Given the description of an element on the screen output the (x, y) to click on. 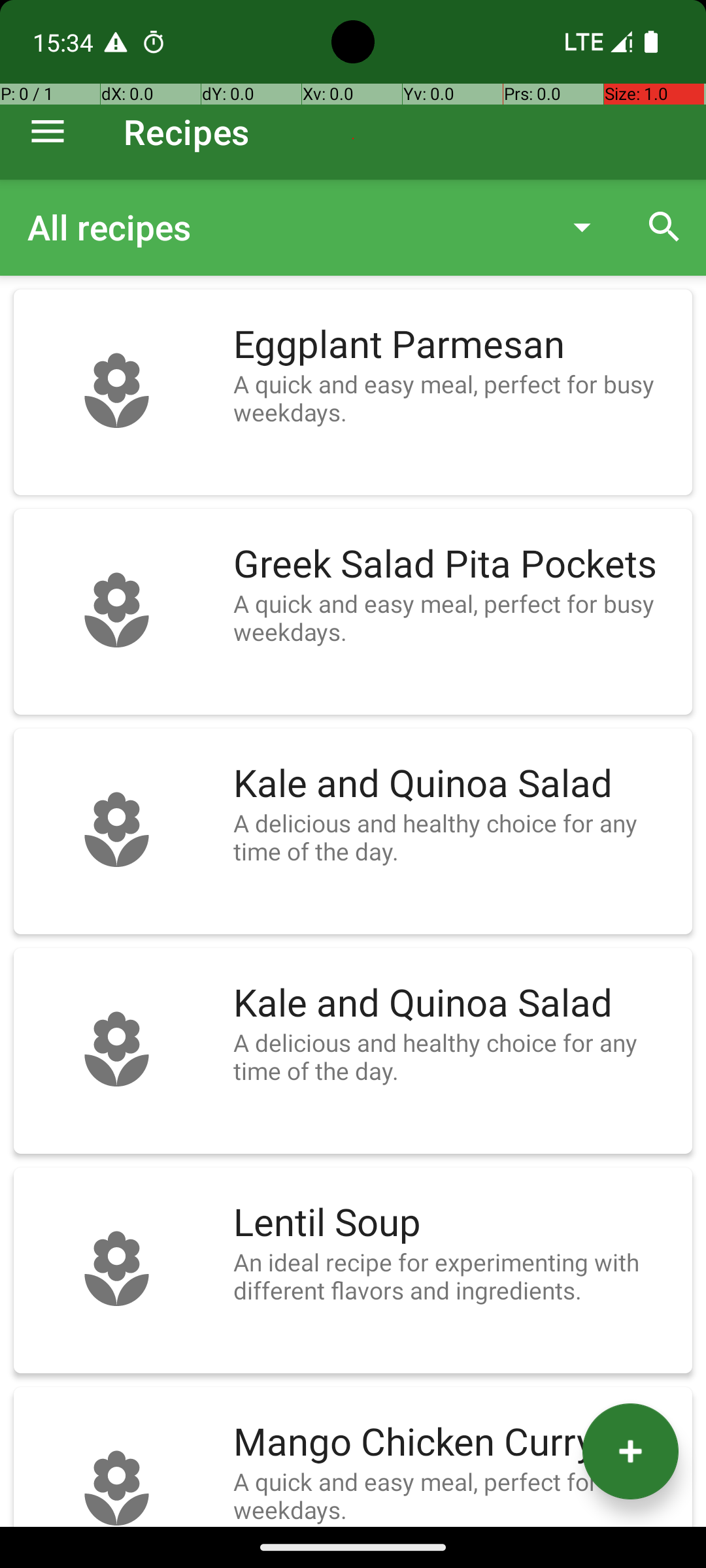
Eggplant Parmesan Element type: android.widget.TextView (455, 344)
Greek Salad Pita Pockets Element type: android.widget.TextView (455, 564)
Kale and Quinoa Salad Element type: android.widget.TextView (455, 783)
Lentil Soup Element type: android.widget.TextView (455, 1222)
Mango Chicken Curry Element type: android.widget.TextView (455, 1442)
